Given the description of an element on the screen output the (x, y) to click on. 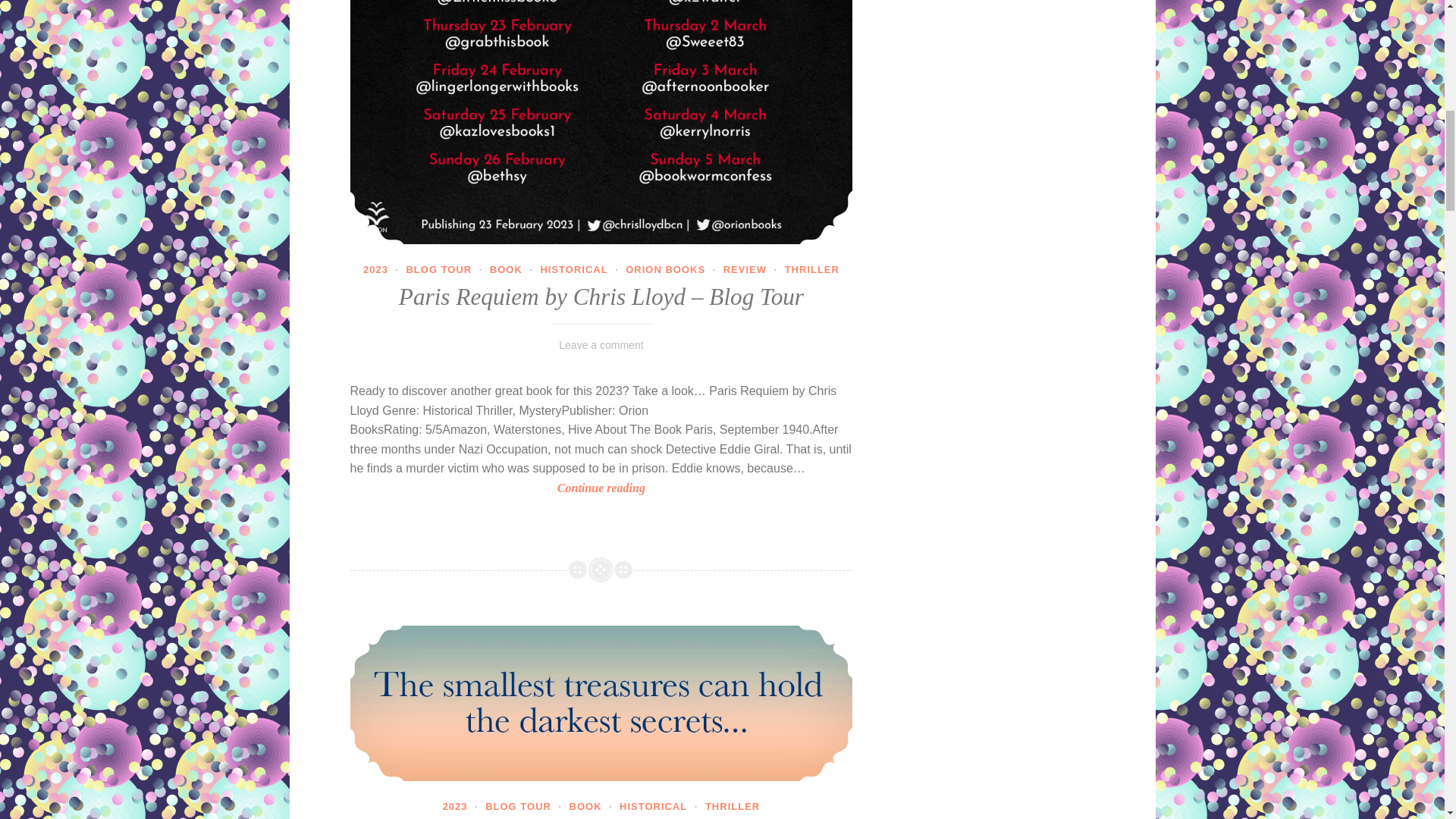
Continue reading (601, 487)
2023 (375, 269)
REVIEW (745, 269)
HISTORICAL (573, 269)
BLOG TOUR (438, 269)
ORION BOOKS (665, 269)
Scroll back to top (470, 27)
Leave a comment (601, 345)
THRILLER (812, 269)
BOOK (505, 269)
